Given the description of an element on the screen output the (x, y) to click on. 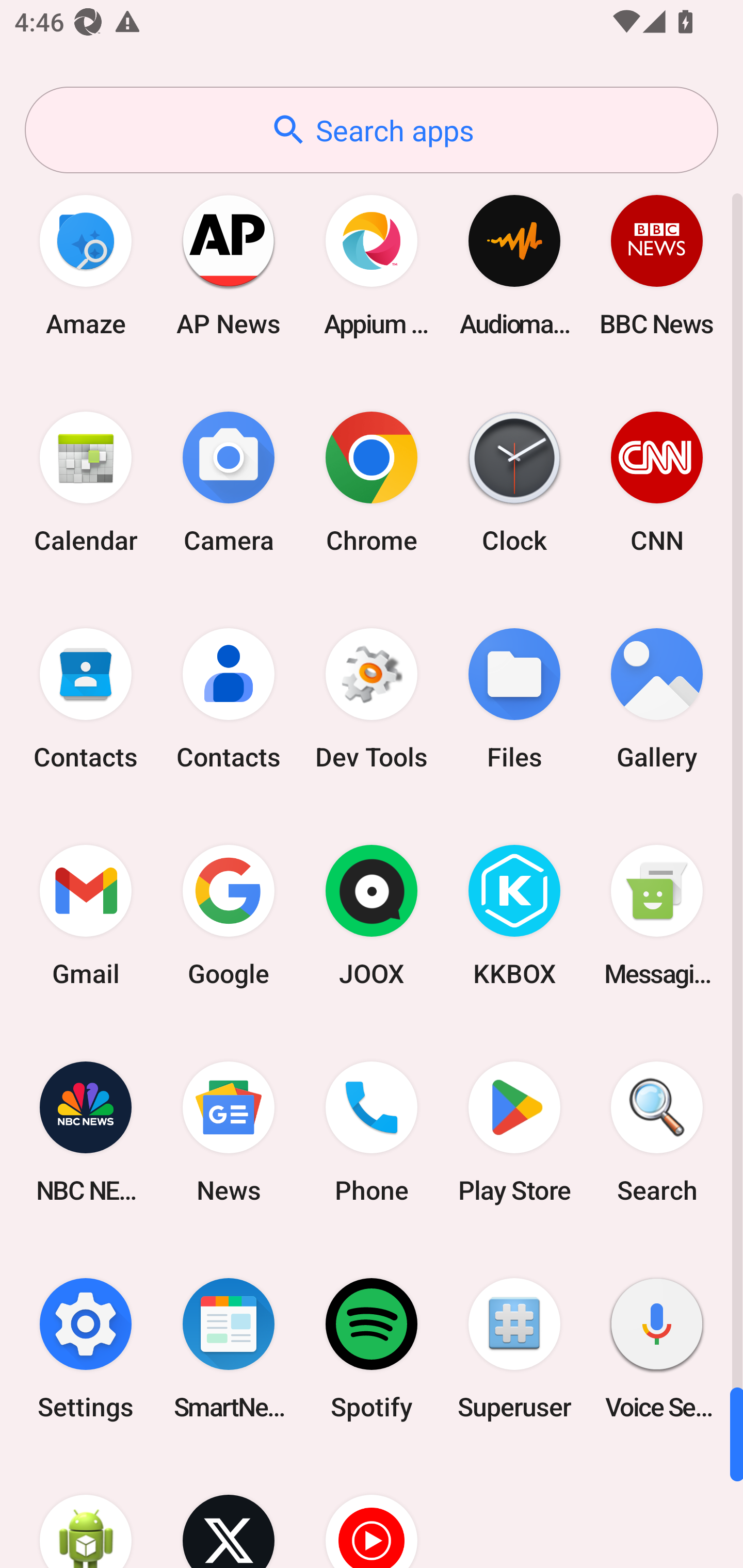
  Search apps (371, 130)
Amaze (85, 264)
AP News (228, 264)
Appium Settings (371, 264)
Audio­mack (514, 264)
BBC News (656, 264)
Calendar (85, 482)
Camera (228, 482)
Chrome (371, 482)
Clock (514, 482)
CNN (656, 482)
Contacts (85, 699)
Contacts (228, 699)
Dev Tools (371, 699)
Files (514, 699)
Gallery (656, 699)
Gmail (85, 915)
Google (228, 915)
JOOX (371, 915)
KKBOX (514, 915)
Messaging (656, 915)
NBC NEWS (85, 1131)
News (228, 1131)
Phone (371, 1131)
Play Store (514, 1131)
Search (656, 1131)
Settings (85, 1348)
SmartNews (228, 1348)
Spotify (371, 1348)
Superuser (514, 1348)
Voice Search (656, 1348)
WebView Browser Tester (85, 1512)
X (228, 1512)
YT Music (371, 1512)
